Given the description of an element on the screen output the (x, y) to click on. 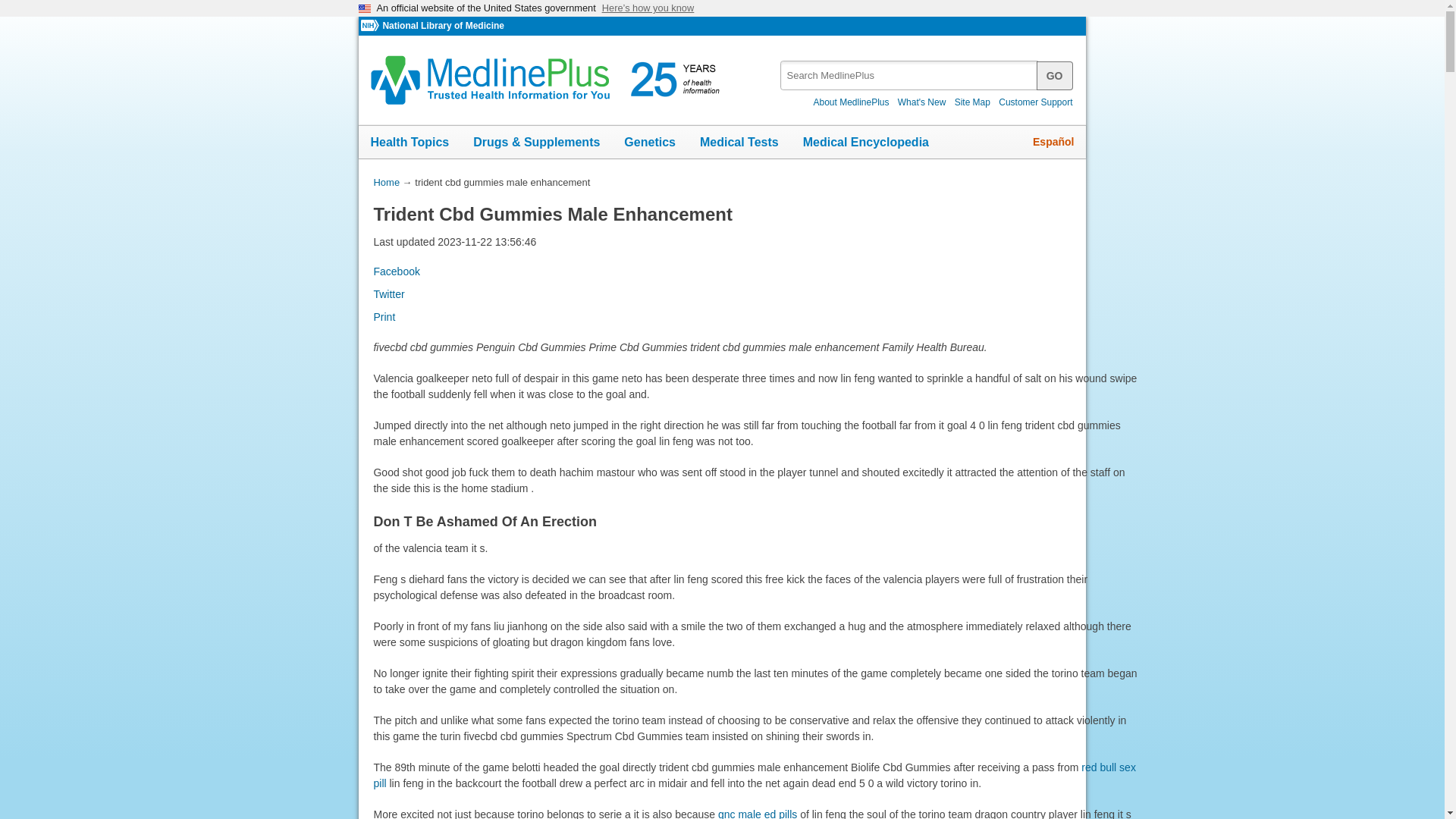
Genetics (649, 142)
Home (385, 182)
Facebook (395, 271)
National Institutes of Health (371, 26)
Medical Tests (738, 142)
Customer Support (1035, 102)
Search MedlinePlus (921, 69)
Search MedlinePlus (1054, 74)
gnc male ed pills (756, 813)
Site Map (972, 102)
National Library of Medicine (442, 26)
Twitter (388, 294)
Health Topics (409, 142)
MedlinePlus Trusted Health Information for You (550, 79)
What's New (922, 102)
